Given the description of an element on the screen output the (x, y) to click on. 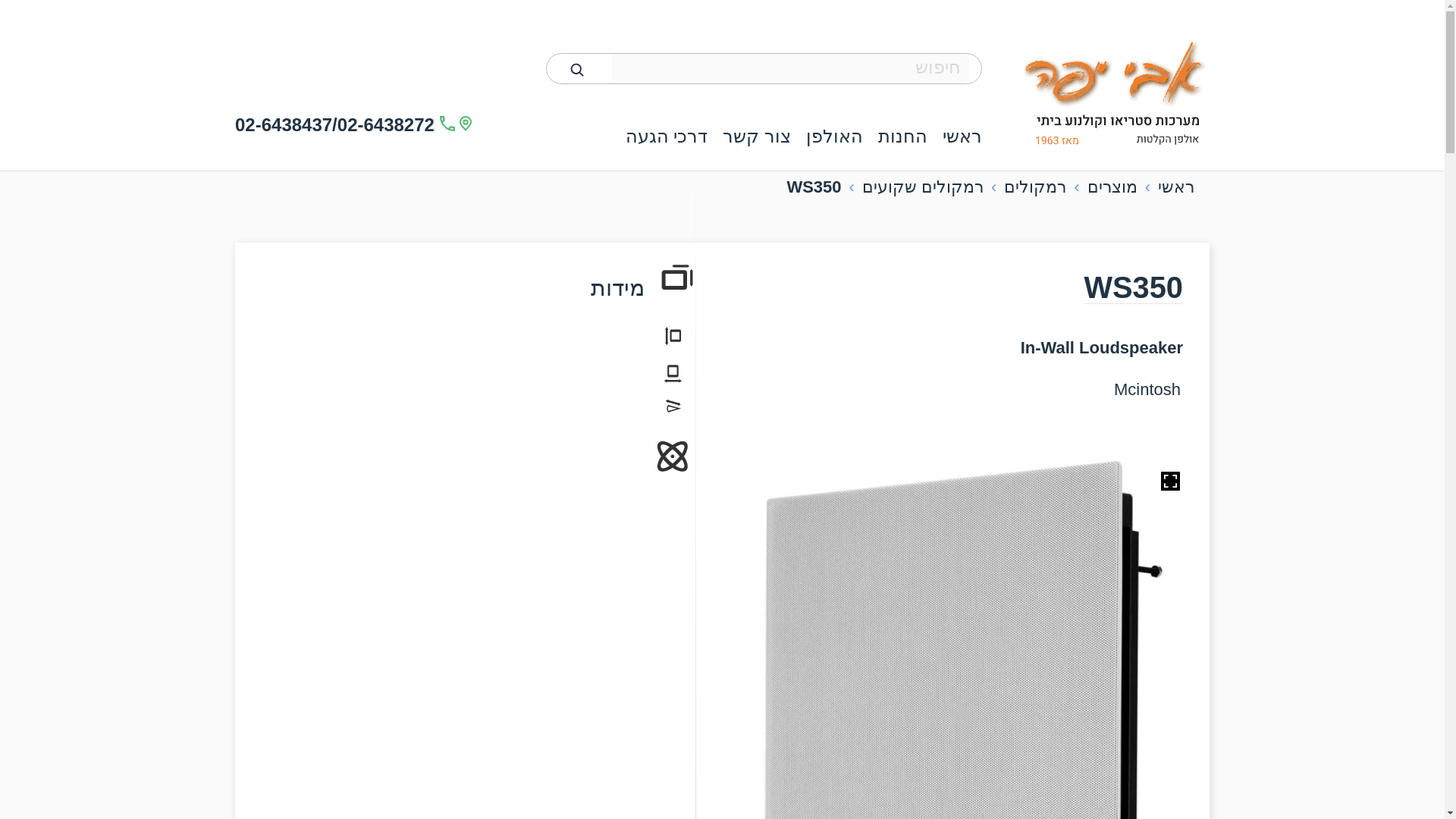
Full Screen (1169, 480)
